Given the description of an element on the screen output the (x, y) to click on. 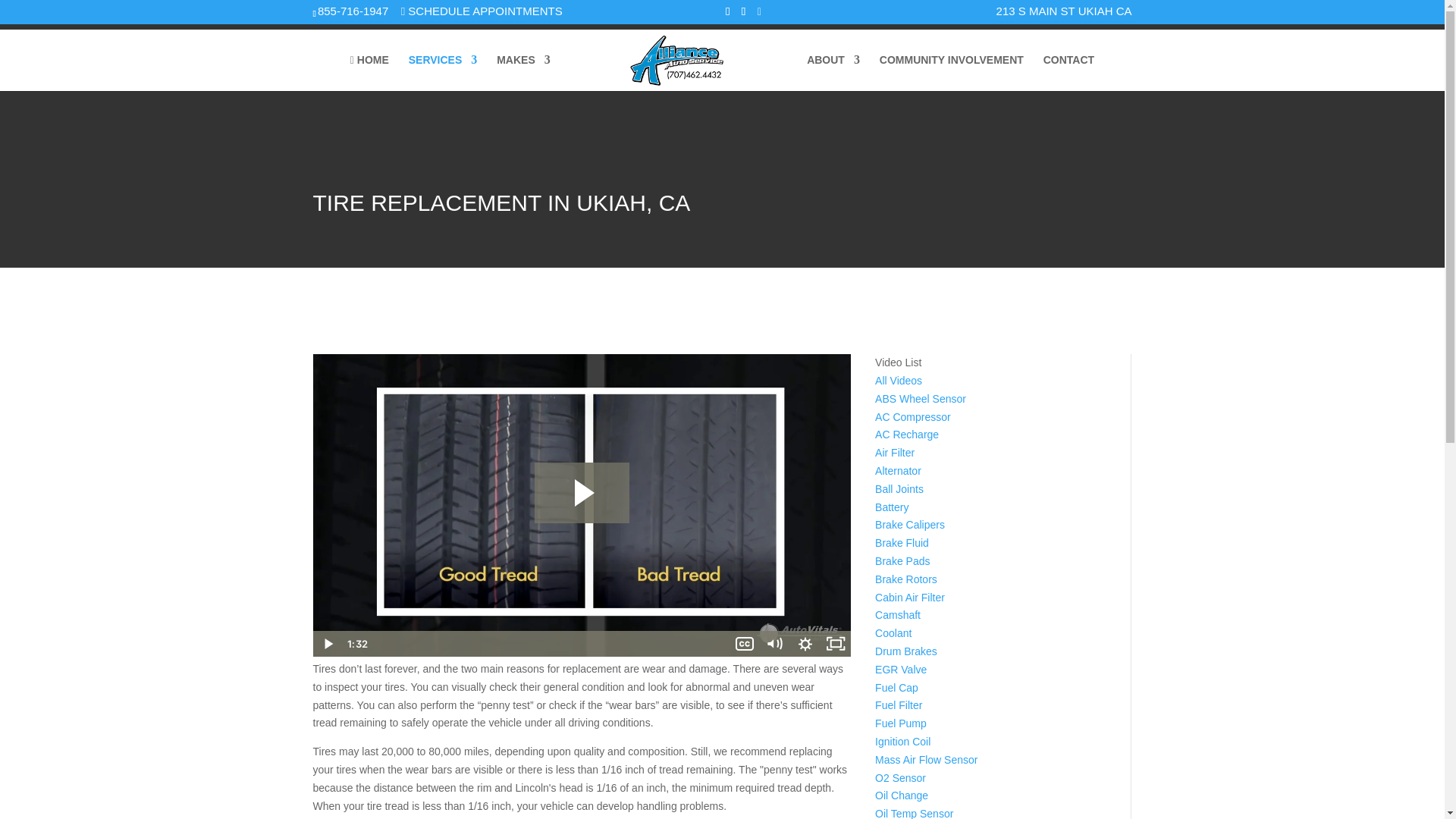
HOME (369, 72)
Show settings menu (805, 643)
213 S MAIN ST UKIAH CA (1063, 10)
SCHEDULE APPOINTMENTS (481, 10)
SERVICES (443, 72)
855-716-1947 (352, 10)
